Given the description of an element on the screen output the (x, y) to click on. 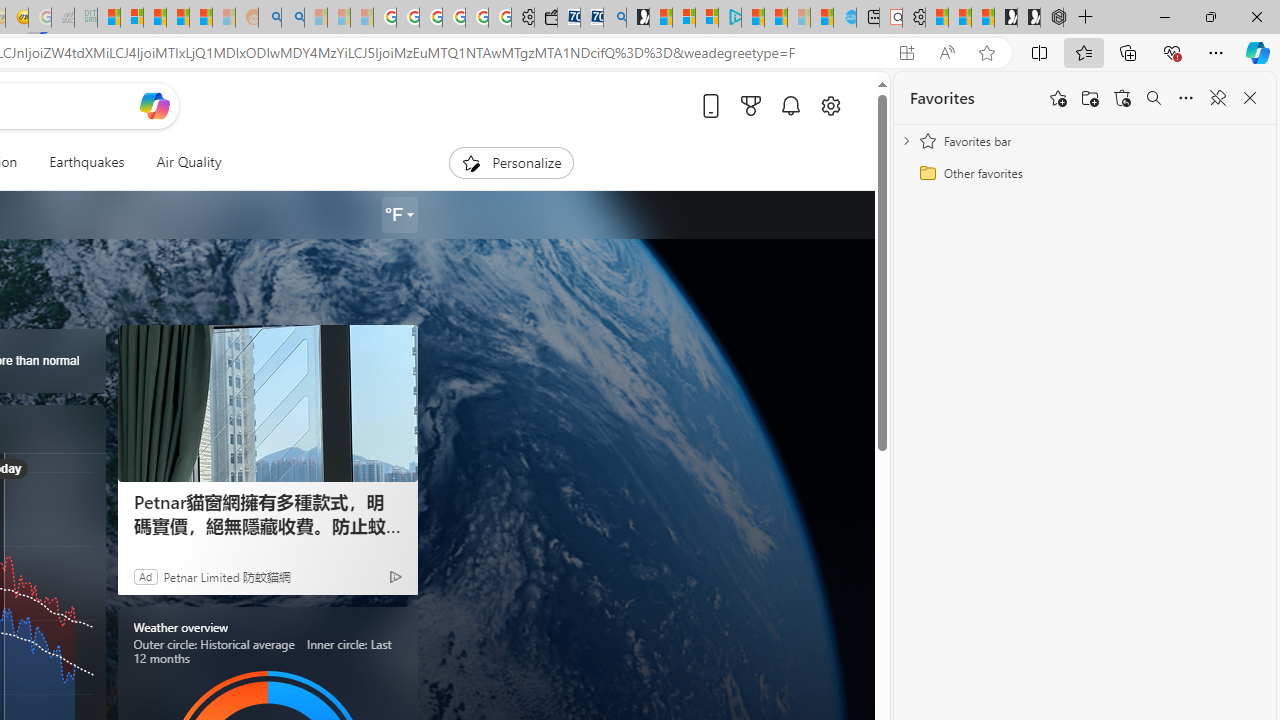
Add folder (1089, 98)
Restore deleted favorites (1122, 98)
App available. Install Microsoft Start Weather (906, 53)
